Given the description of an element on the screen output the (x, y) to click on. 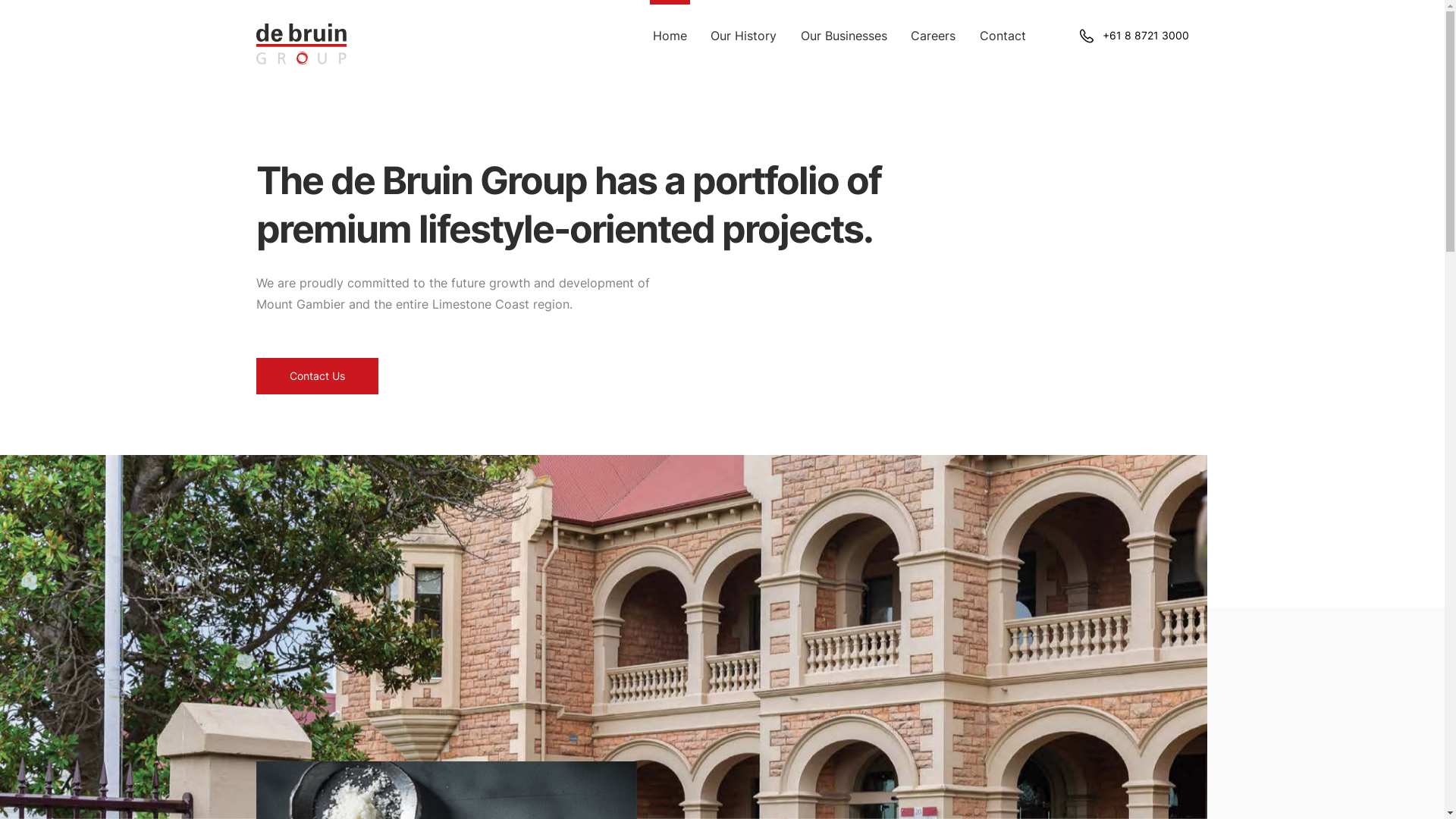
Contact Us Element type: text (317, 375)
Careers Element type: text (932, 35)
Our Businesses Element type: text (843, 35)
Contact Element type: text (1002, 35)
+61 8 8721 3000 Element type: text (1133, 35)
De Bruin Element type: hover (301, 43)
Home Element type: text (669, 35)
Our History Element type: text (743, 35)
